Given the description of an element on the screen output the (x, y) to click on. 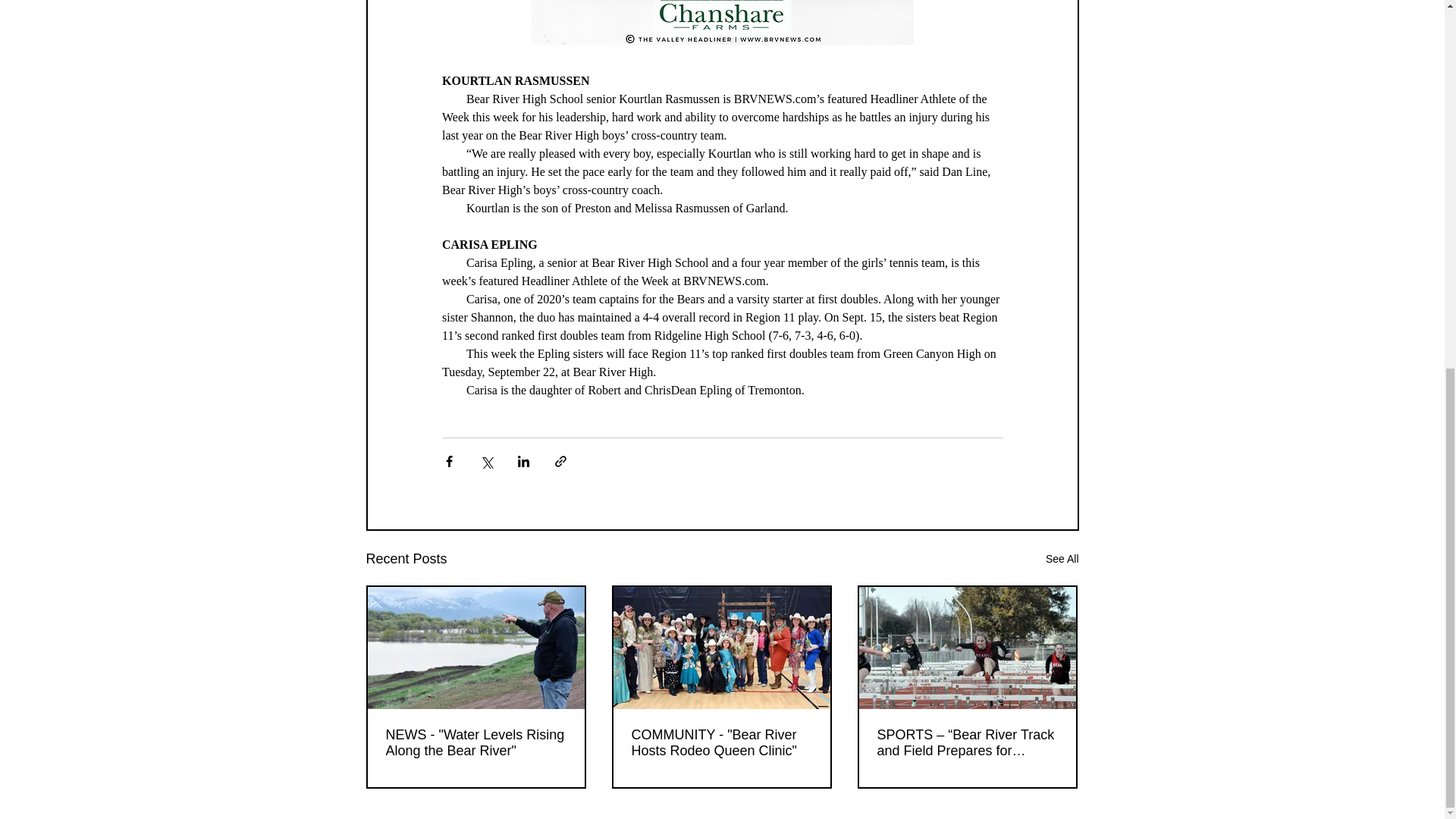
NEWS - "Water Levels Rising Along the Bear River" (475, 743)
COMMUNITY - "Bear River Hosts Rodeo Queen Clinic" (720, 743)
See All (1061, 558)
